Given the description of an element on the screen output the (x, y) to click on. 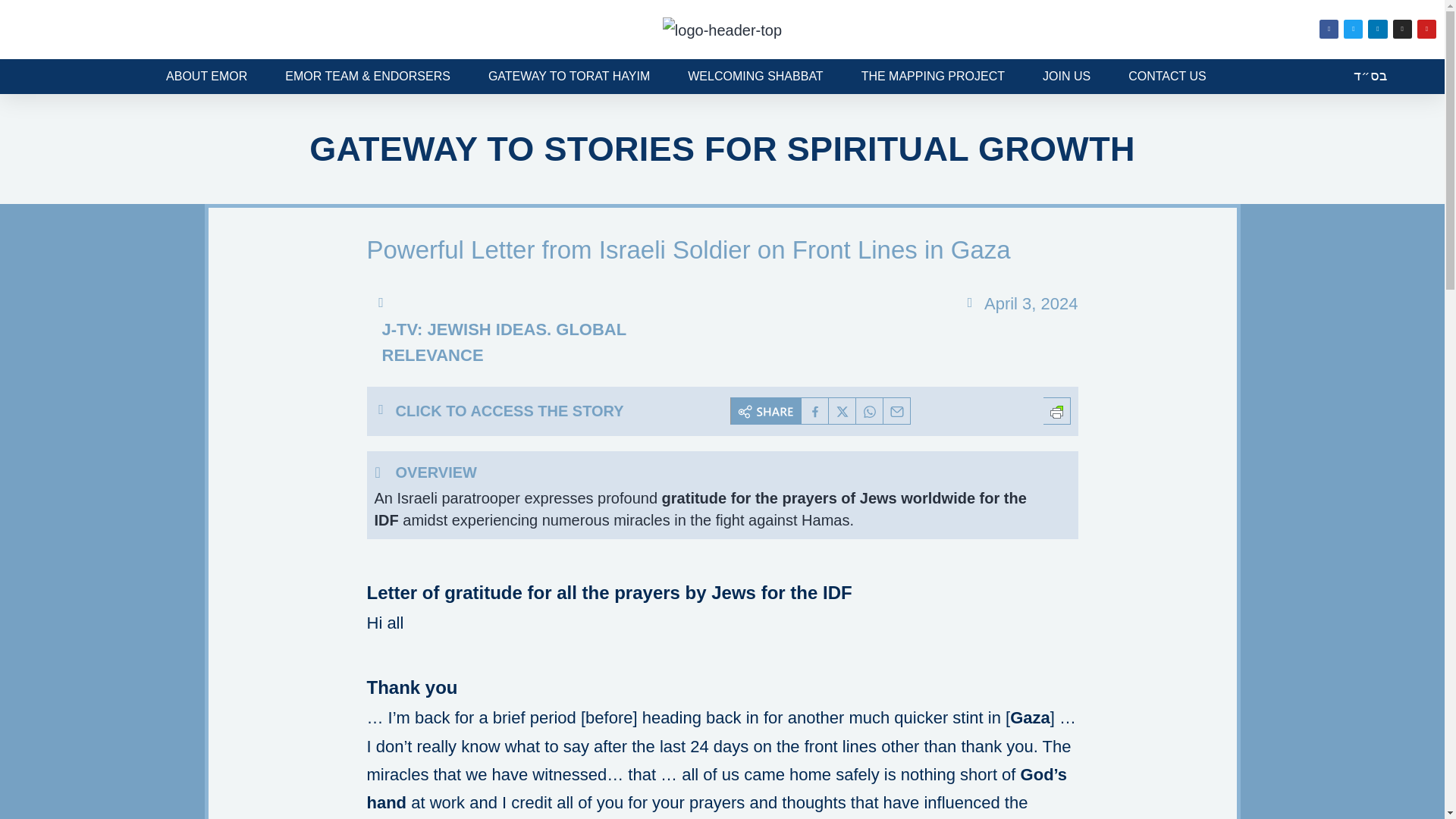
JOIN US (1066, 76)
GATEWAY TO TORAT HAYIM (568, 76)
CONTACT US (1167, 76)
THE MAPPING PROJECT (932, 76)
logo-header-top (721, 30)
WELCOMING SHABBAT (754, 76)
ABOUT EMOR (206, 76)
